Given the description of an element on the screen output the (x, y) to click on. 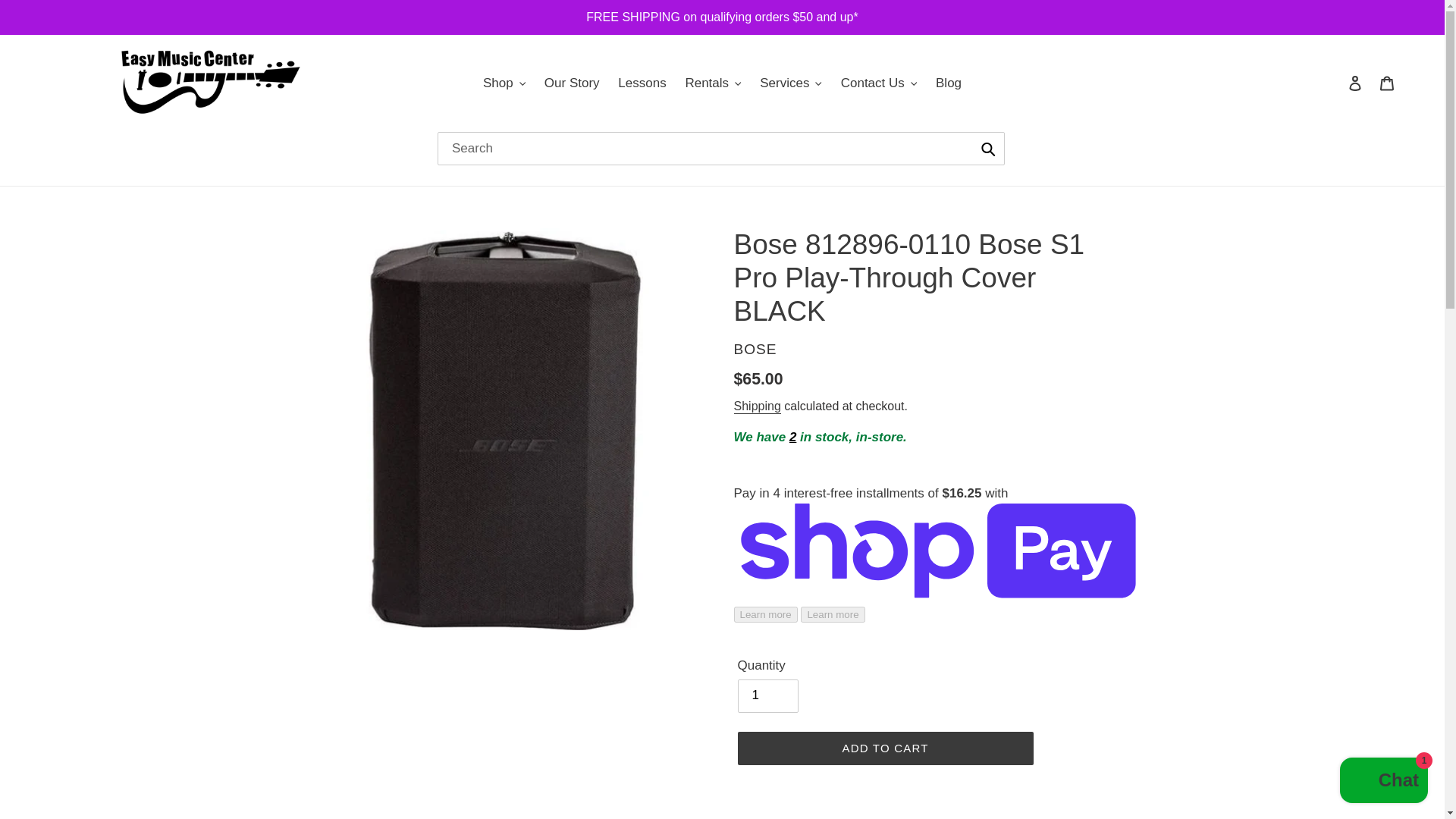
Our Story (572, 83)
1 (766, 695)
Shopify online store chat (1383, 781)
Shop (504, 83)
